Given the description of an element on the screen output the (x, y) to click on. 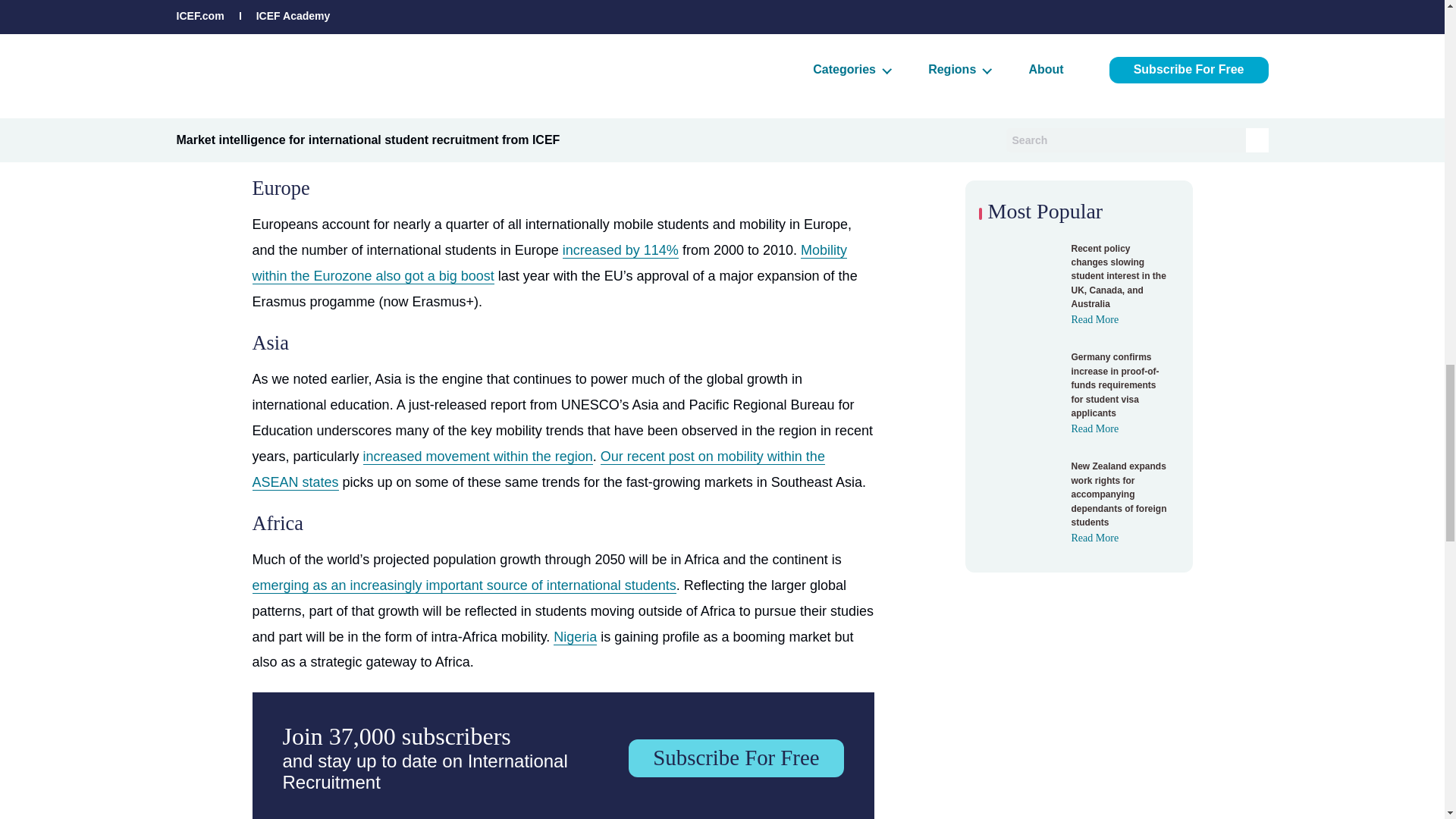
icefmonitor.com-a-closer-look-at-african-student-mobility (463, 585)
